Given the description of an element on the screen output the (x, y) to click on. 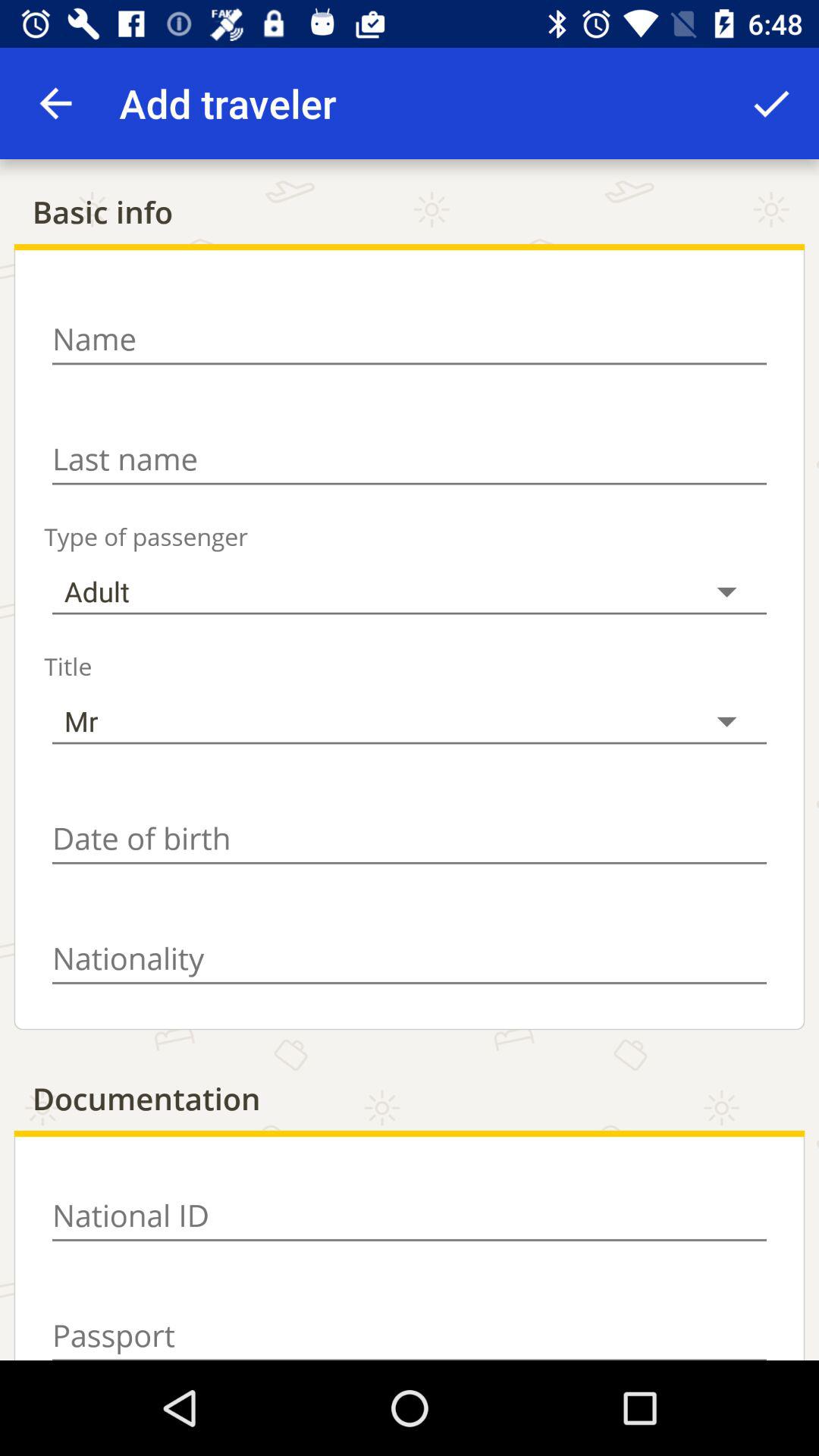
click the item above the basic info (771, 103)
